Given the description of an element on the screen output the (x, y) to click on. 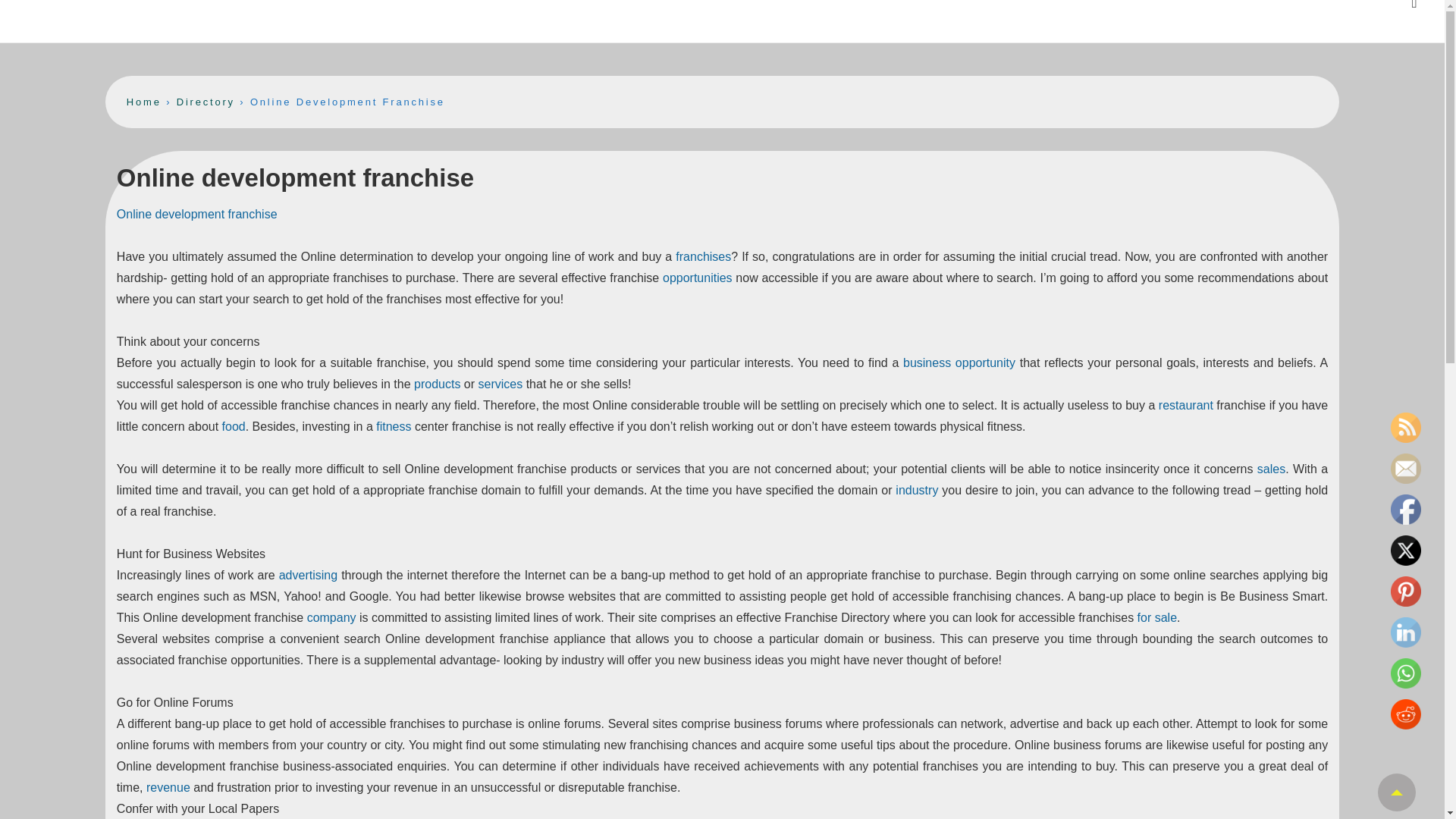
Follow by Email (1405, 468)
RSS (1405, 427)
Directory (205, 101)
Home (143, 101)
products (436, 383)
Twitter (1405, 550)
advertising (308, 574)
development (190, 214)
business (926, 362)
franchise (253, 214)
